Given the description of an element on the screen output the (x, y) to click on. 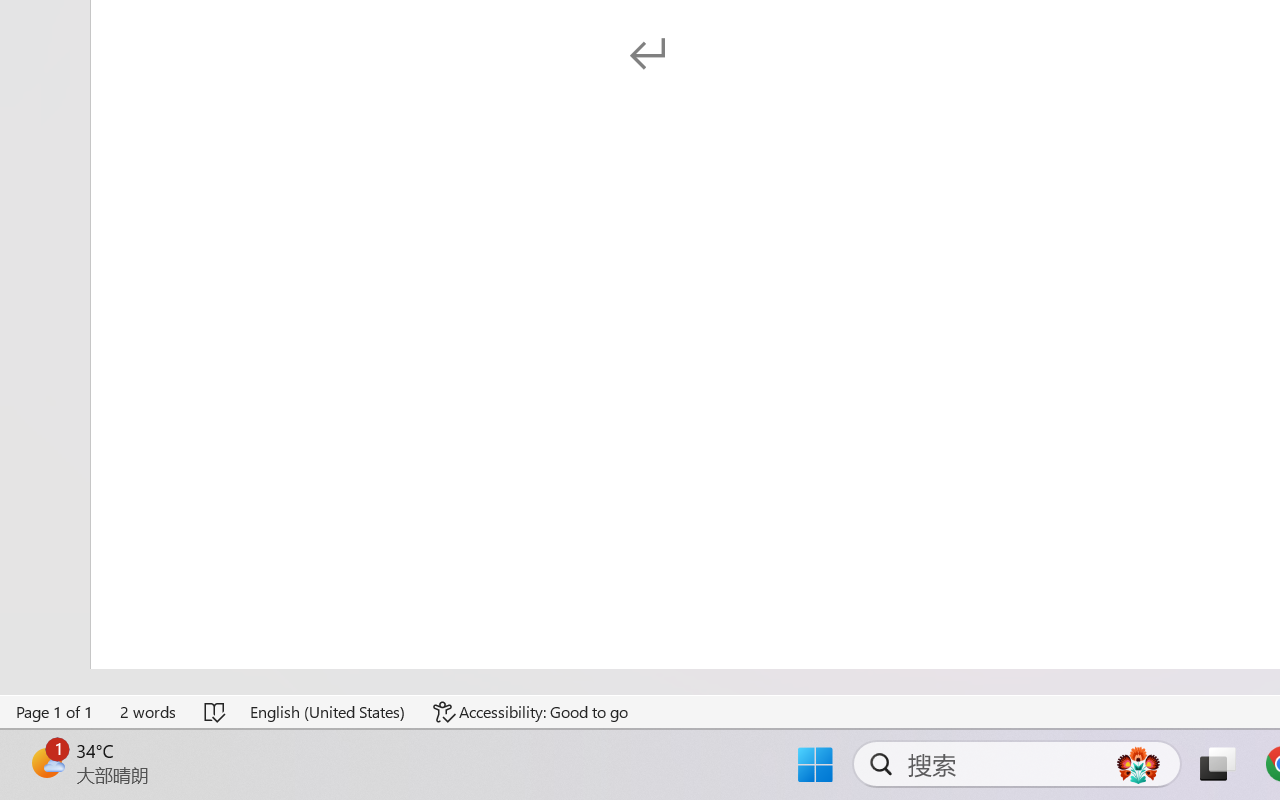
AutomationID: DynamicSearchBoxGleamImage (1138, 764)
Page Number Page 1 of 1 (55, 712)
Word Count 2 words (149, 712)
Language English (United States) (328, 712)
Spelling and Grammar Check No Errors (216, 712)
Accessibility Checker Accessibility: Good to go (531, 712)
AutomationID: BadgeAnchorLargeTicker (46, 762)
